Given the description of an element on the screen output the (x, y) to click on. 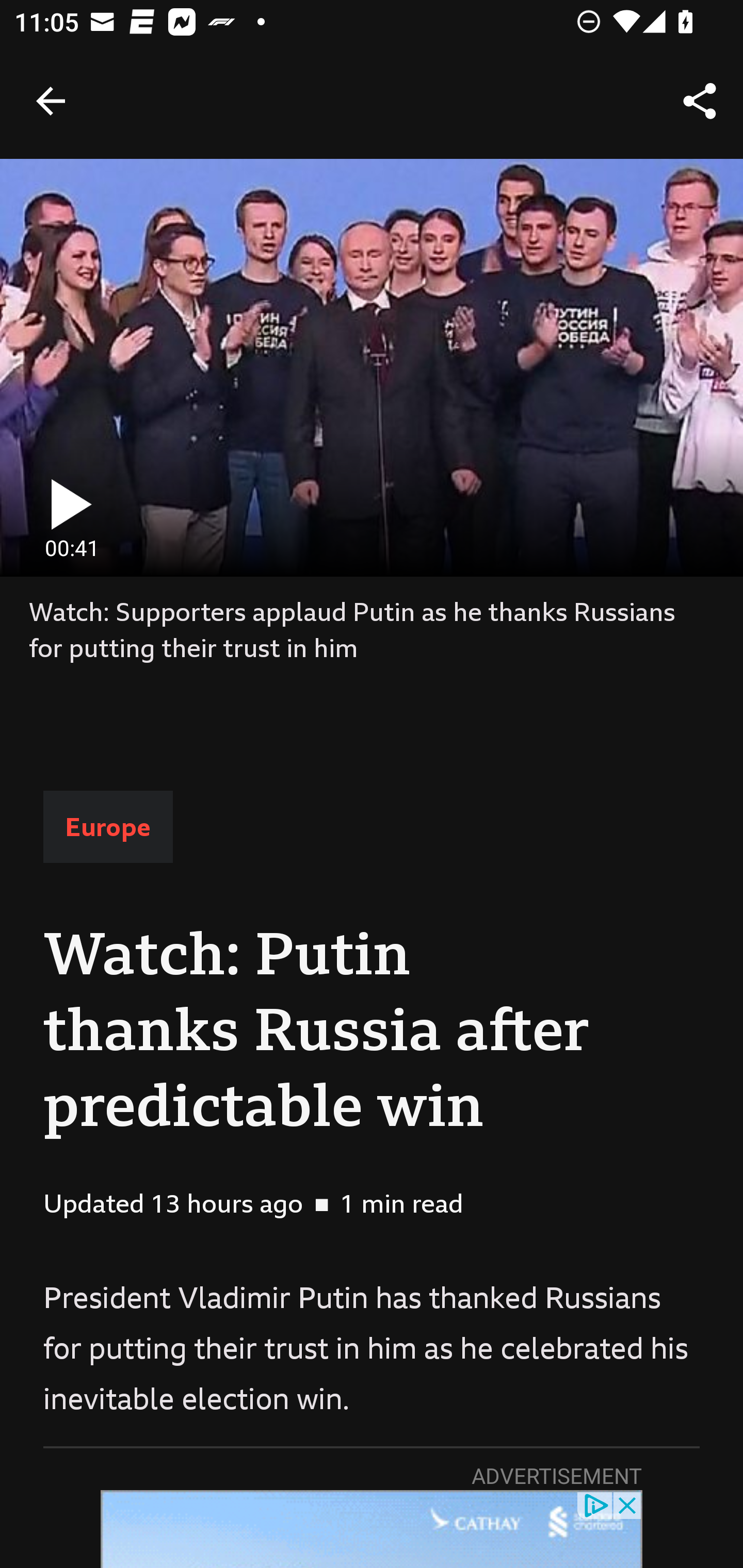
Back (50, 101)
Share (699, 101)
play fullscreen 00:41 0 minutes, 41 seconds (371, 367)
Europe (108, 827)
privacy_small (595, 1504)
close_button (627, 1504)
